Given the description of an element on the screen output the (x, y) to click on. 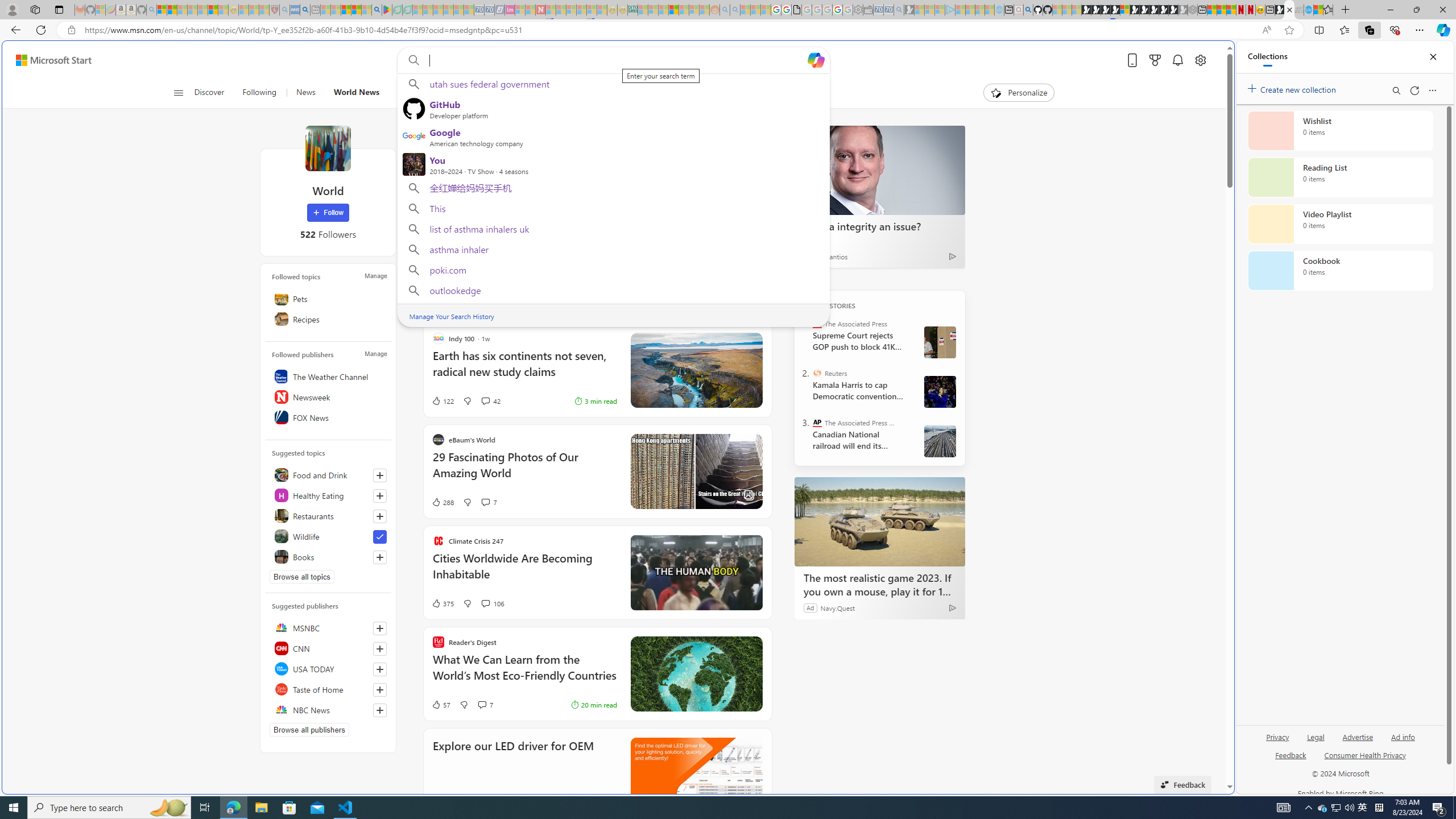
utah sues federal government - Search (304, 9)
More options menu (1432, 90)
